Given the description of an element on the screen output the (x, y) to click on. 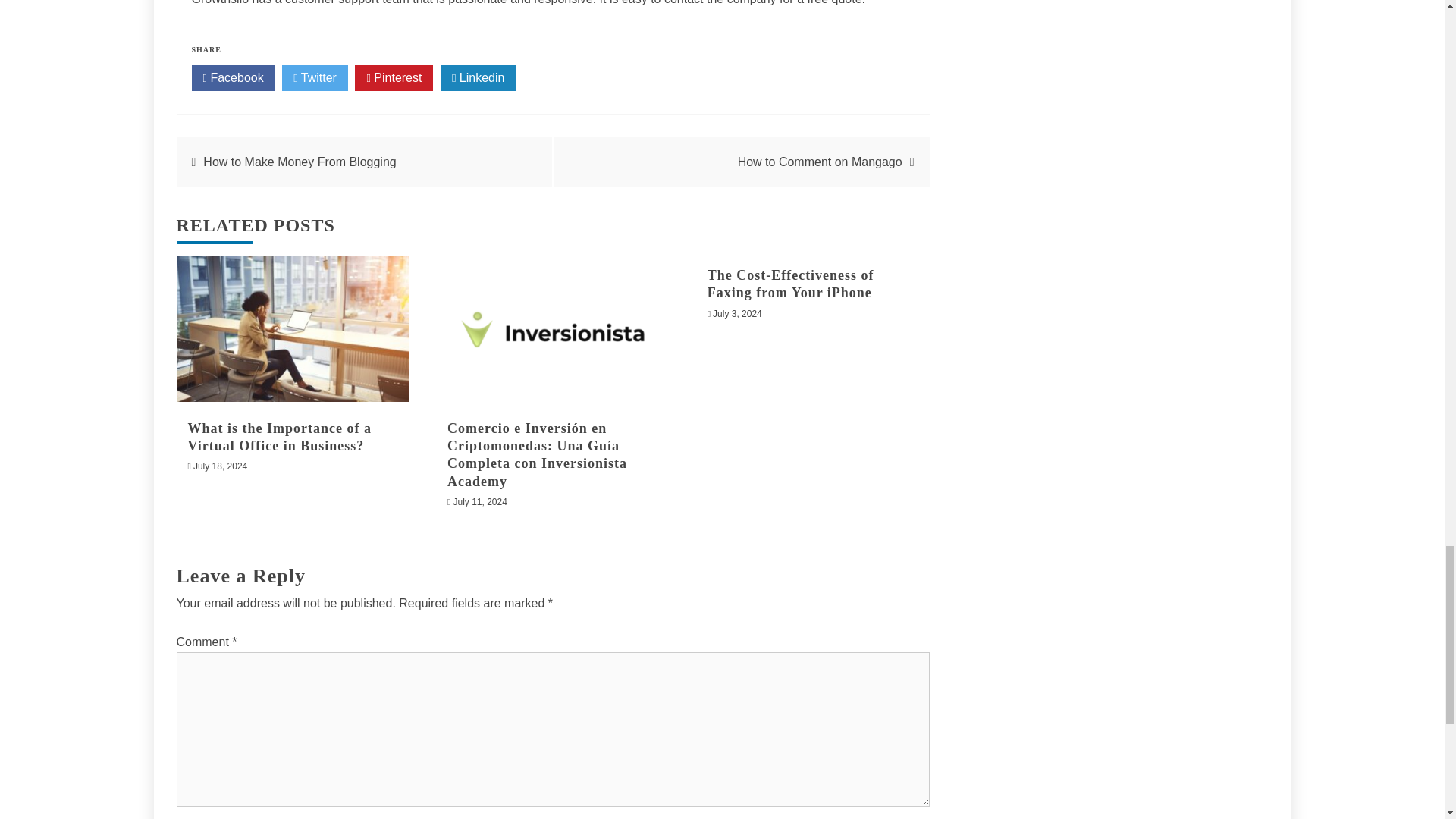
The Cost-Effectiveness of Faxing from Your iPhone (791, 283)
Facebook (232, 77)
July 11, 2024 (479, 501)
Linkedin (478, 77)
Pinterest (393, 77)
How to Make Money From Blogging (299, 161)
What is the Importance of a Virtual Office in Business? (279, 436)
Twitter (314, 77)
How to Comment on Mangago (820, 161)
July 18, 2024 (220, 466)
